Given the description of an element on the screen output the (x, y) to click on. 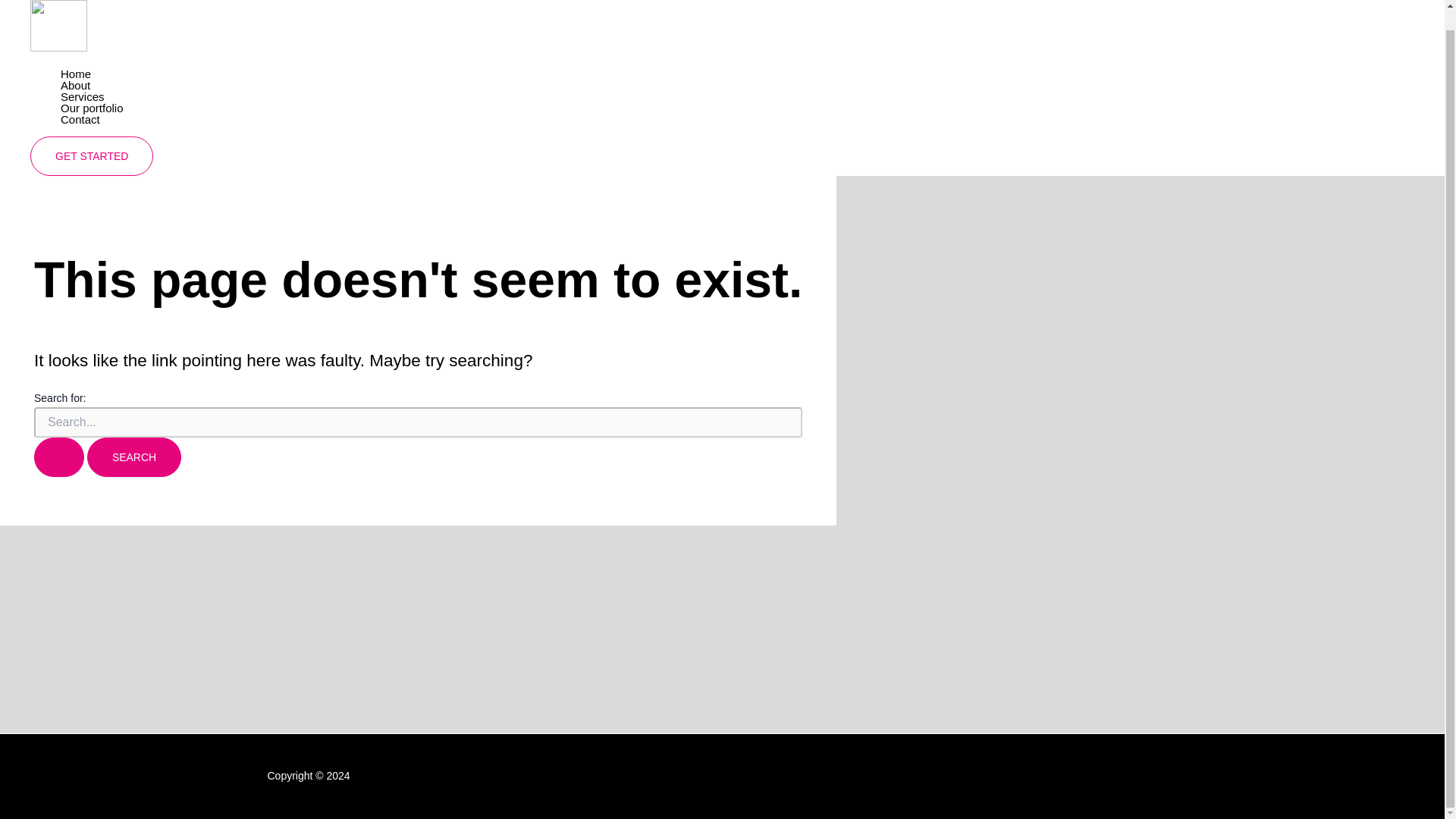
Our portfolio (92, 107)
Search (133, 456)
Search (133, 456)
Home (92, 73)
About (92, 84)
GET STARTED (91, 156)
Services (92, 96)
Search (133, 456)
Contact (92, 119)
